Given the description of an element on the screen output the (x, y) to click on. 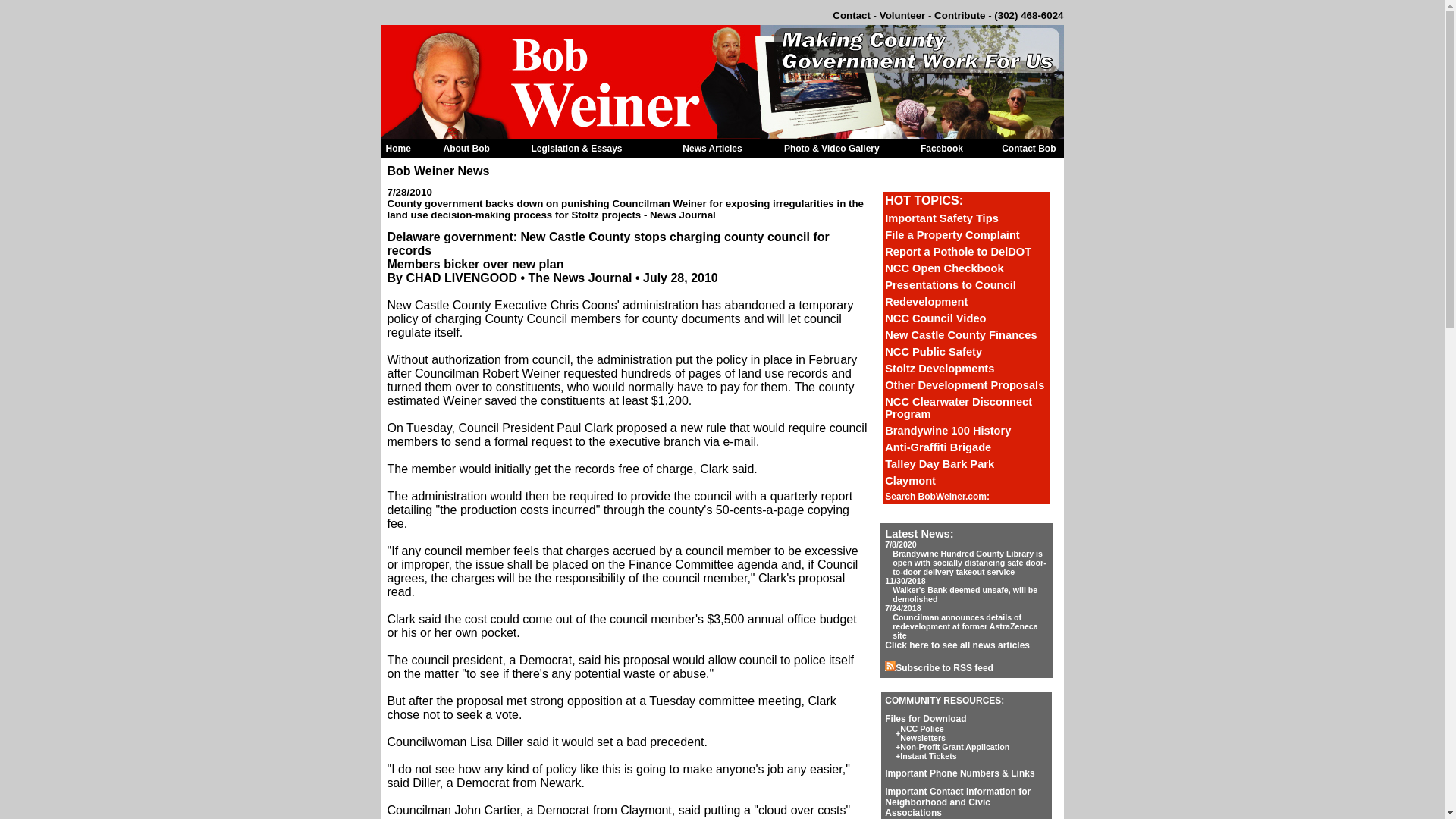
Volunteer (901, 15)
Subscribe to RSS feed (938, 667)
Presentations to Council (950, 285)
Report a Pothole to DelDOT (957, 251)
File a Property Complaint (952, 234)
Contact (851, 15)
Contribute (959, 15)
Non-Profit Grant Application (954, 746)
